Given the description of an element on the screen output the (x, y) to click on. 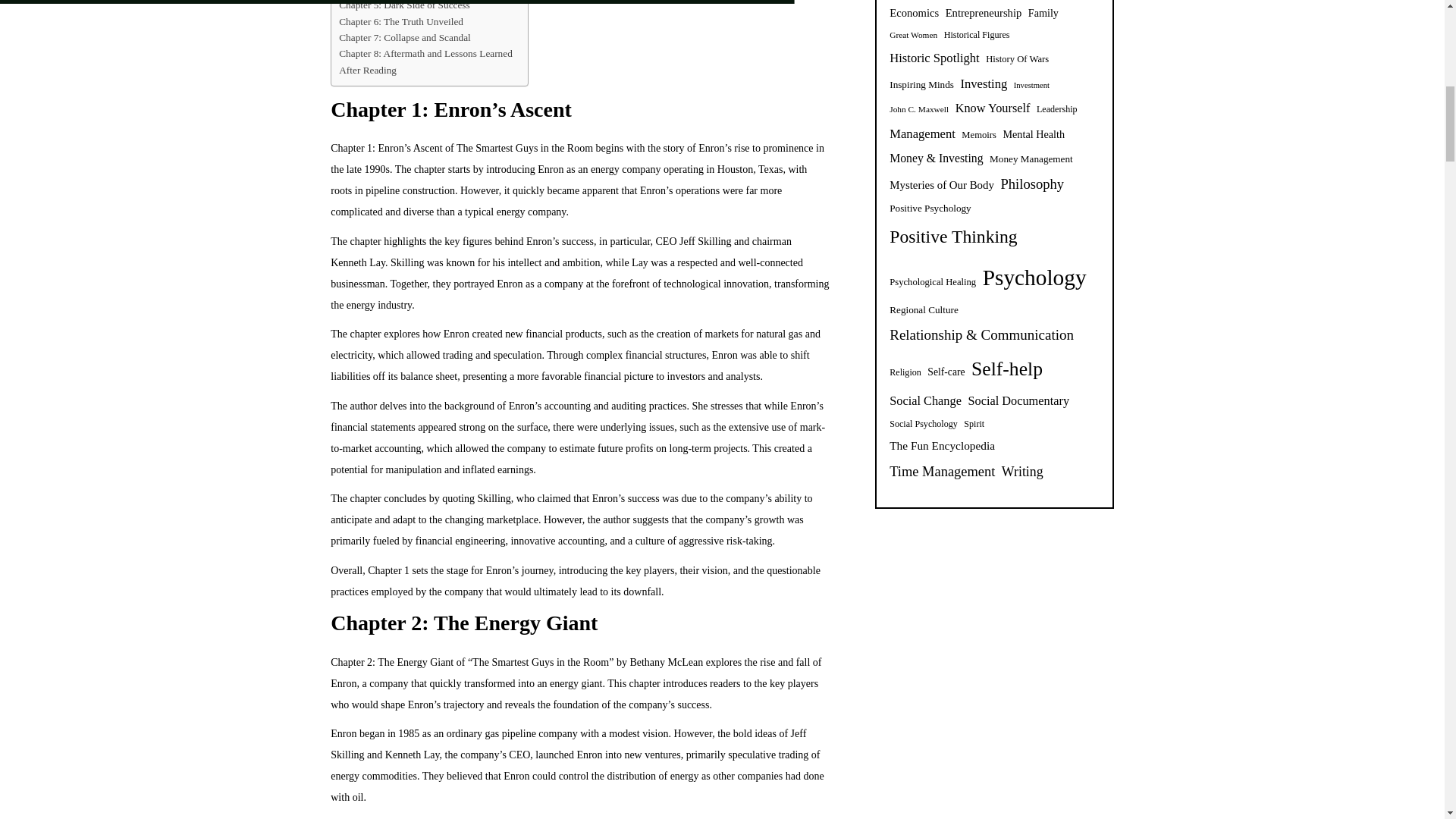
Chapter 5: Dark Side of Success (403, 6)
Chapter 8: Aftermath and Lessons Learned (425, 53)
Chapter 7: Collapse and Scandal (404, 37)
After Reading (367, 69)
After Reading (367, 69)
Chapter 5: Dark Side of Success (403, 6)
Chapter 8: Aftermath and Lessons Learned (425, 53)
Chapter 6: The Truth Unveiled (401, 21)
Chapter 7: Collapse and Scandal (404, 37)
Chapter 6: The Truth Unveiled (401, 21)
The Smartest Guys in the Room (524, 147)
